Given the description of an element on the screen output the (x, y) to click on. 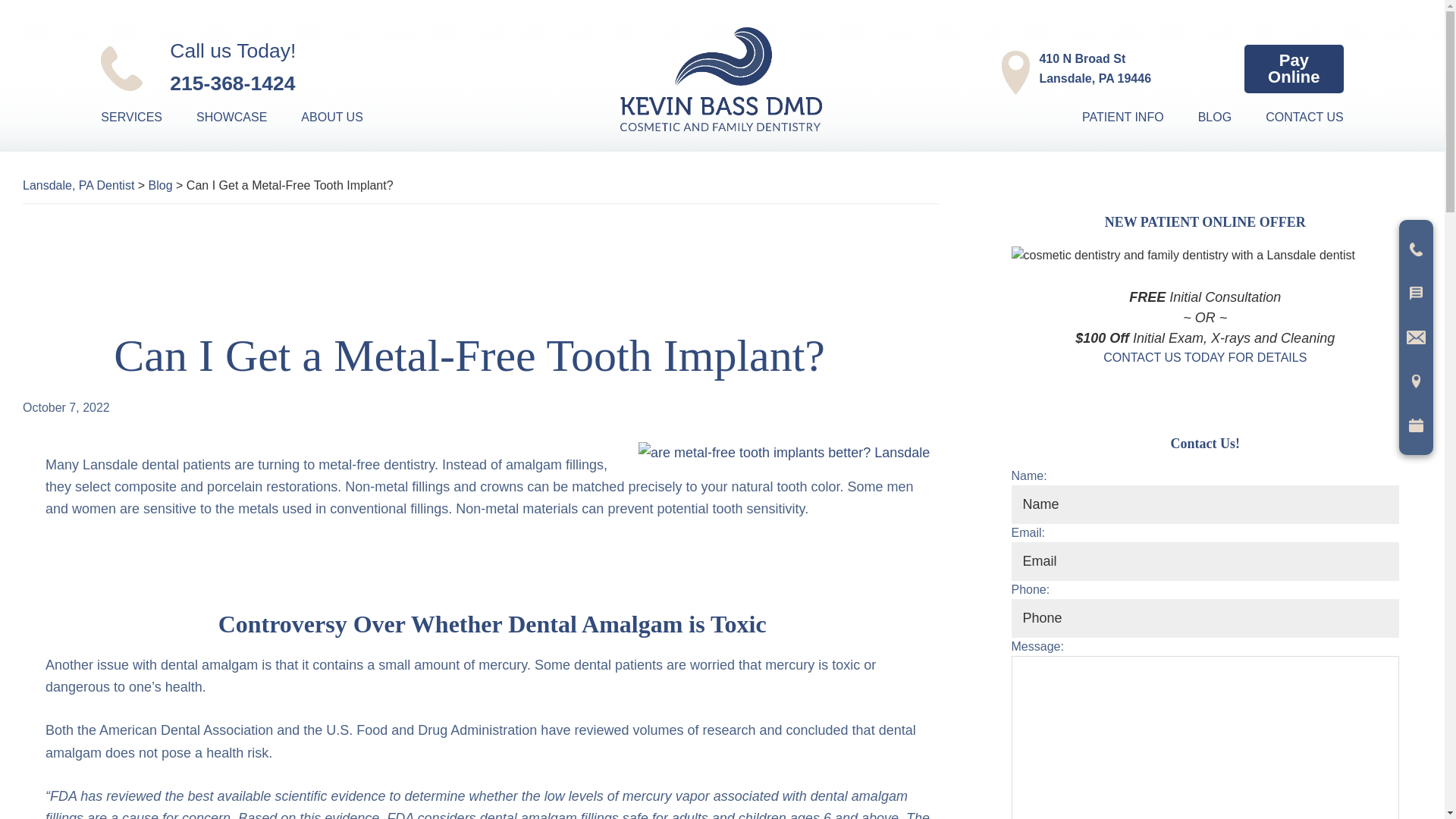
ABOUT US (1079, 69)
Pay Online (347, 117)
SHOWCASE (1293, 69)
SERVICES (246, 117)
